Given the description of an element on the screen output the (x, y) to click on. 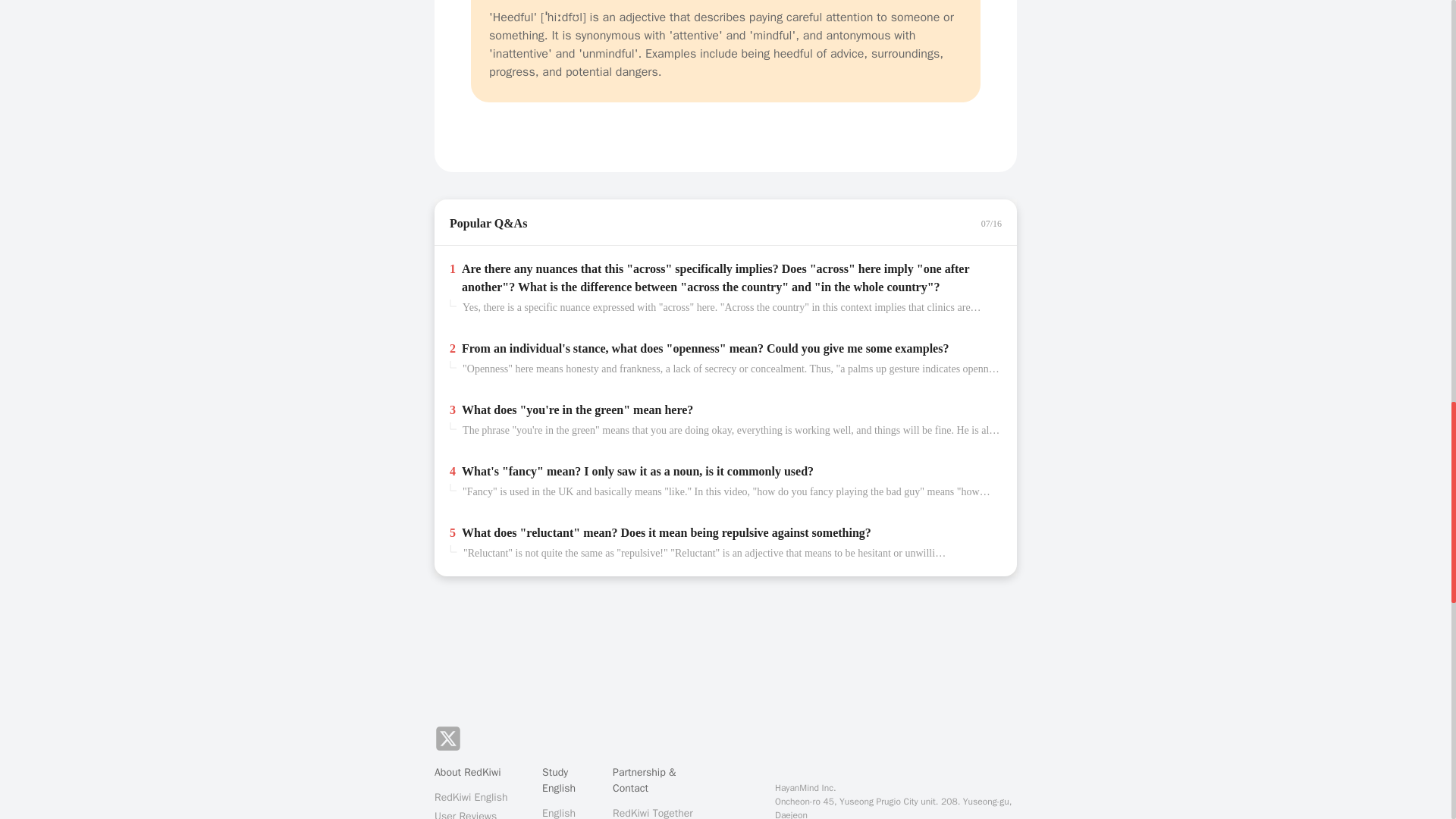
RedKiwi English (480, 797)
User Reviews (480, 813)
